Given the description of an element on the screen output the (x, y) to click on. 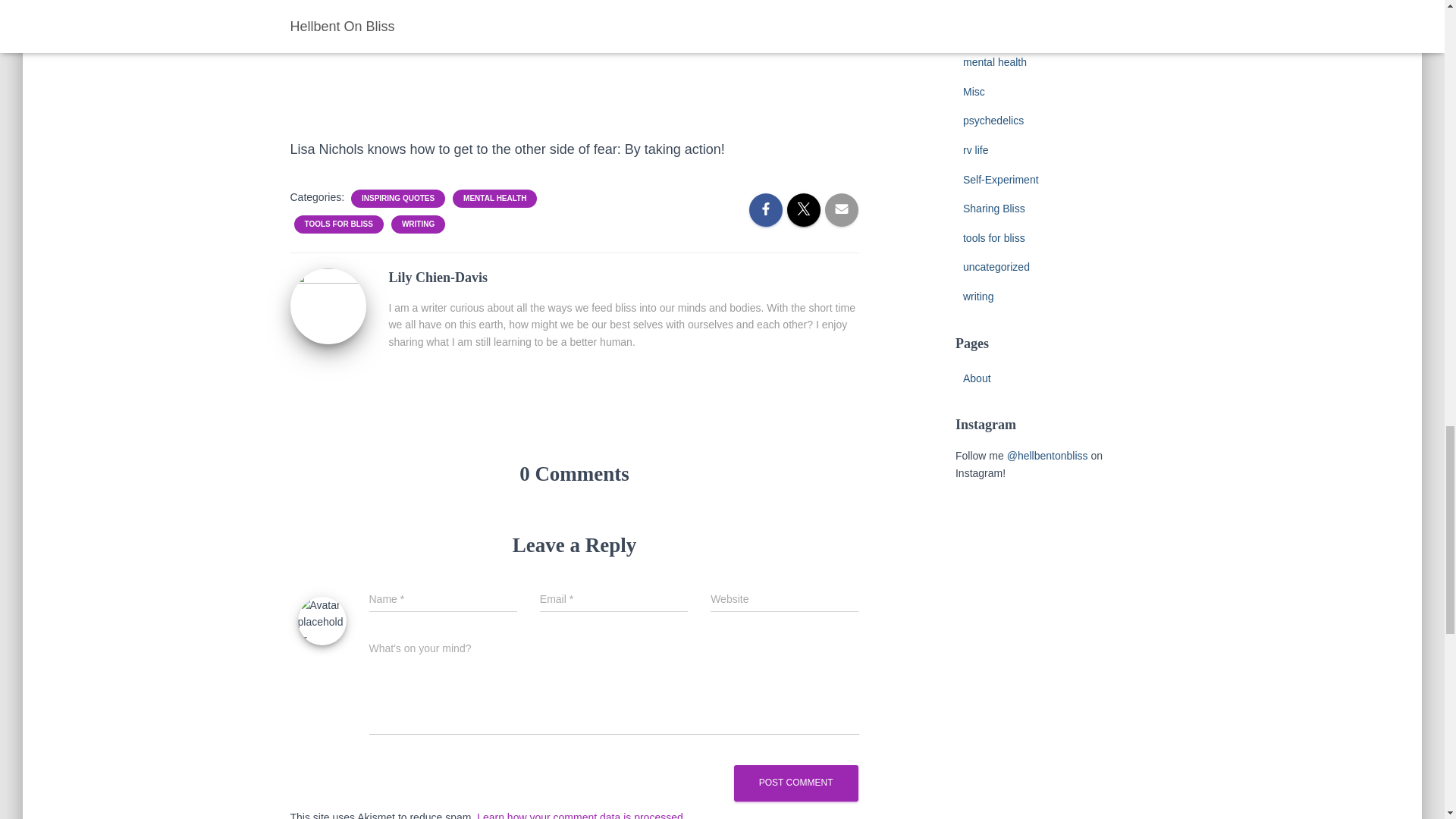
TOOLS FOR BLISS (338, 224)
INSPIRING QUOTES (397, 198)
Learn how your comment data is processed (579, 815)
Lily Chien-Davis (327, 305)
WRITING (417, 224)
Post Comment (796, 782)
Post Comment (796, 782)
MENTAL HEALTH (494, 198)
